Given the description of an element on the screen output the (x, y) to click on. 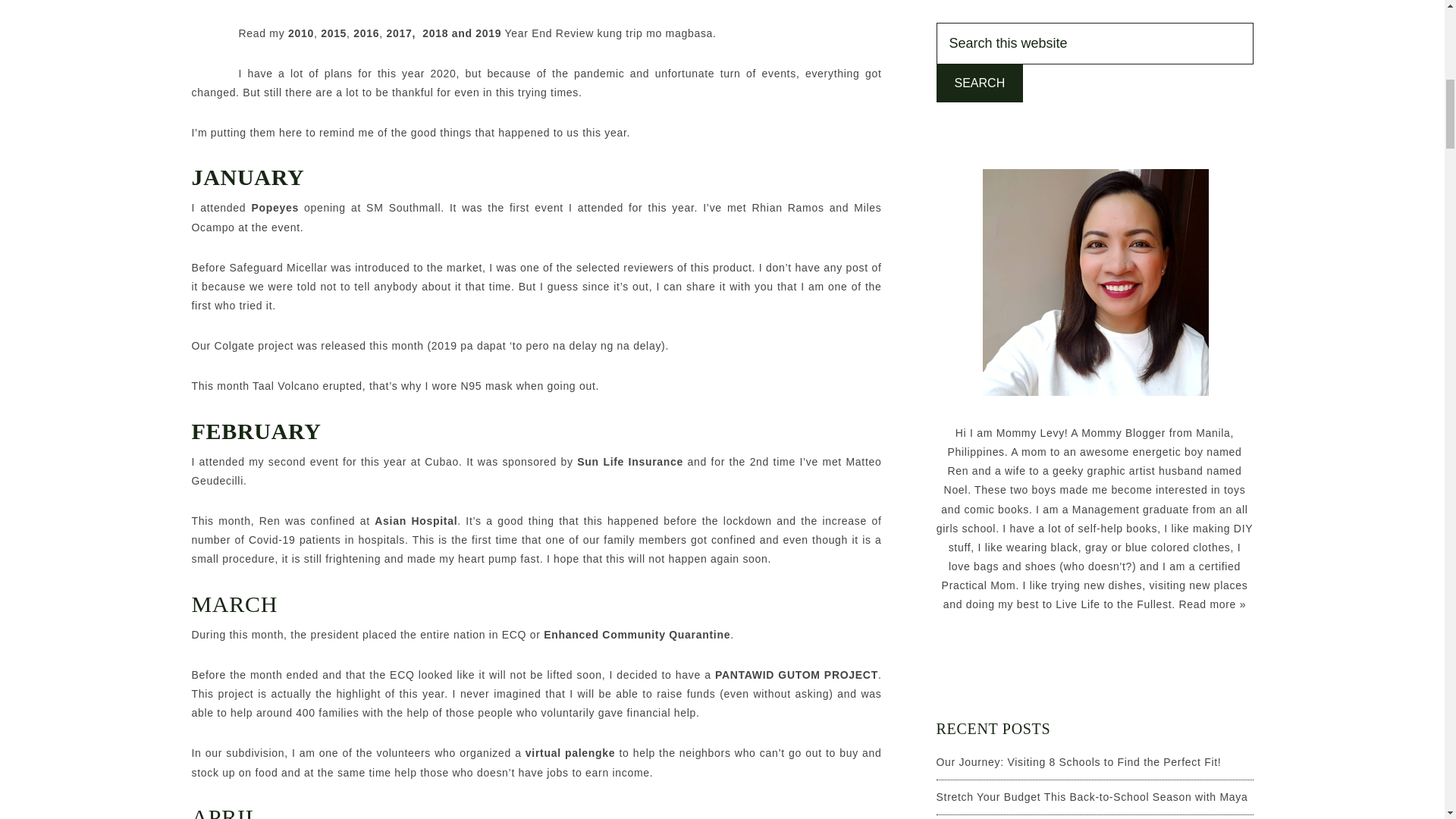
Sun Life Insurance (627, 461)
2015 (333, 33)
 2018 (433, 33)
Search (979, 83)
2016 (365, 33)
Popeyes (274, 207)
2010 (301, 33)
Asian Hospital (415, 521)
2017 (398, 33)
2019 (488, 33)
